Given the description of an element on the screen output the (x, y) to click on. 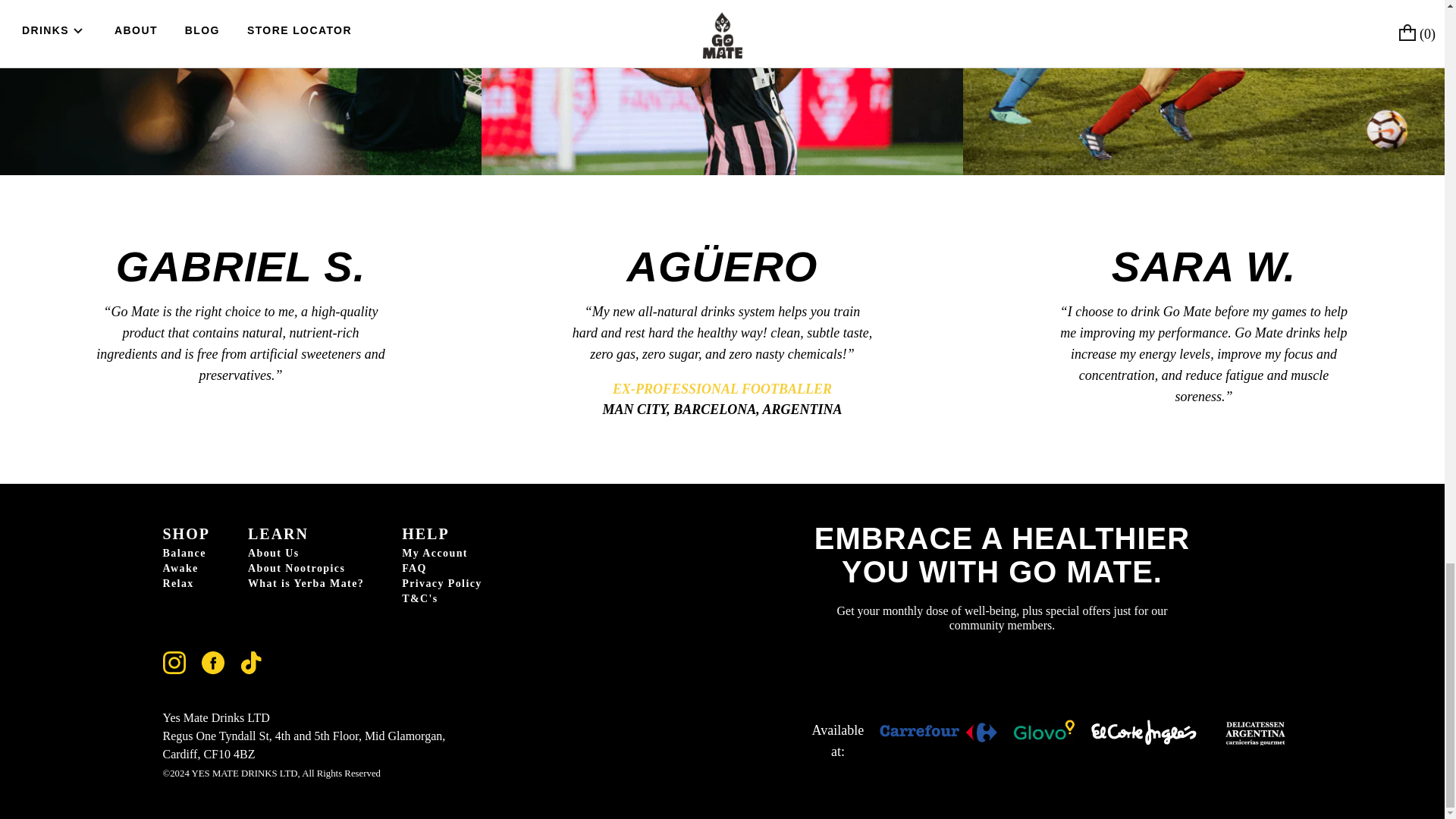
About Us (305, 553)
Relax (185, 583)
Balance (185, 553)
FAQ (441, 568)
About Nootropics (305, 568)
Awake (185, 568)
What is Yerba Mate? (305, 583)
Privacy Policy (441, 583)
My Account (441, 553)
